Given the description of an element on the screen output the (x, y) to click on. 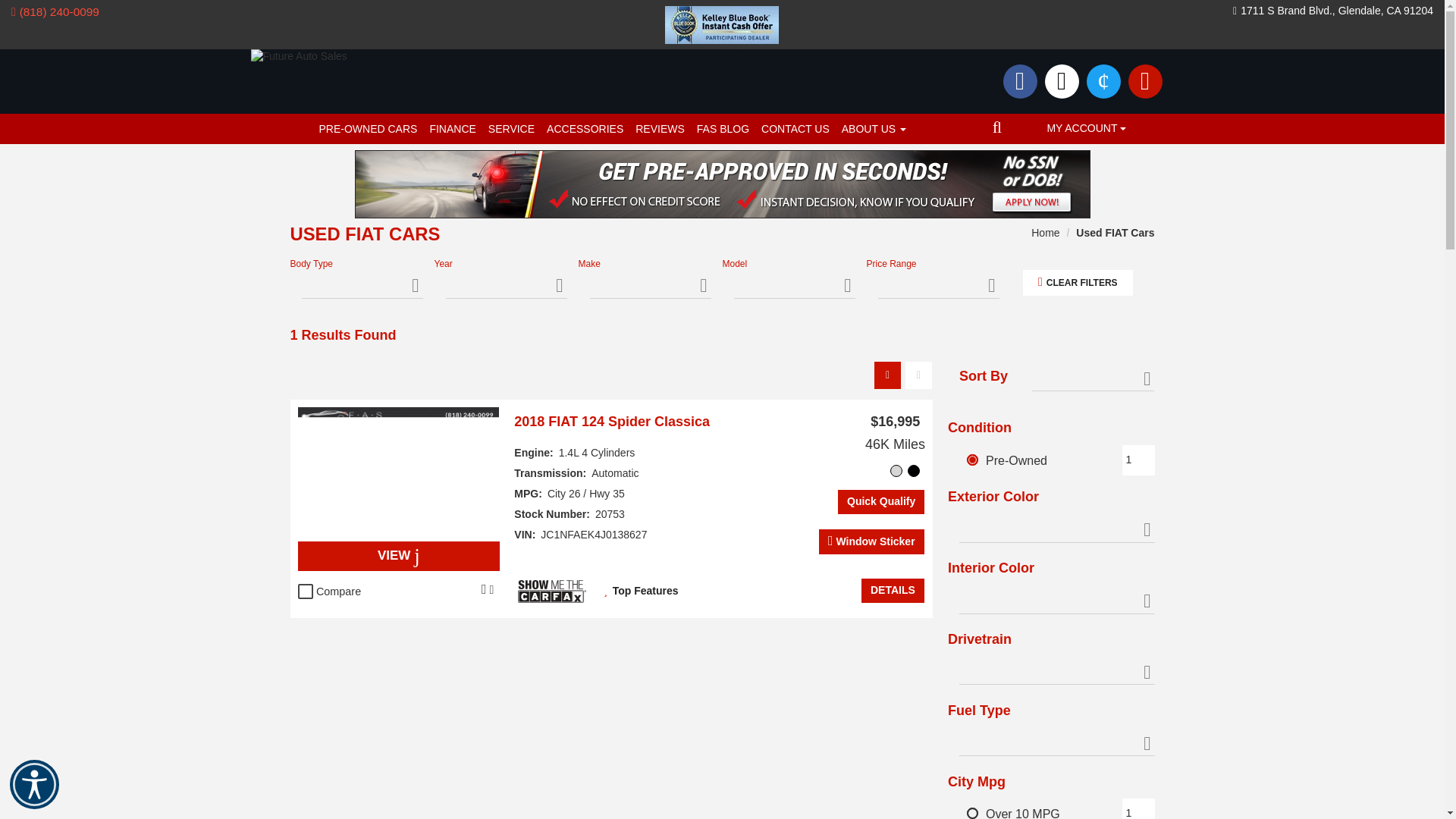
Home (1044, 232)
Click here to Service Your Car (510, 128)
REVIEWS (659, 128)
FINANCE (452, 128)
MY ACCOUNT (1085, 128)
ACCESSORIES (584, 128)
FAS BLOG (722, 128)
ABOUT US (873, 128)
CONTACT US (795, 128)
CLEAR FILTERS (1077, 282)
